Given the description of an element on the screen output the (x, y) to click on. 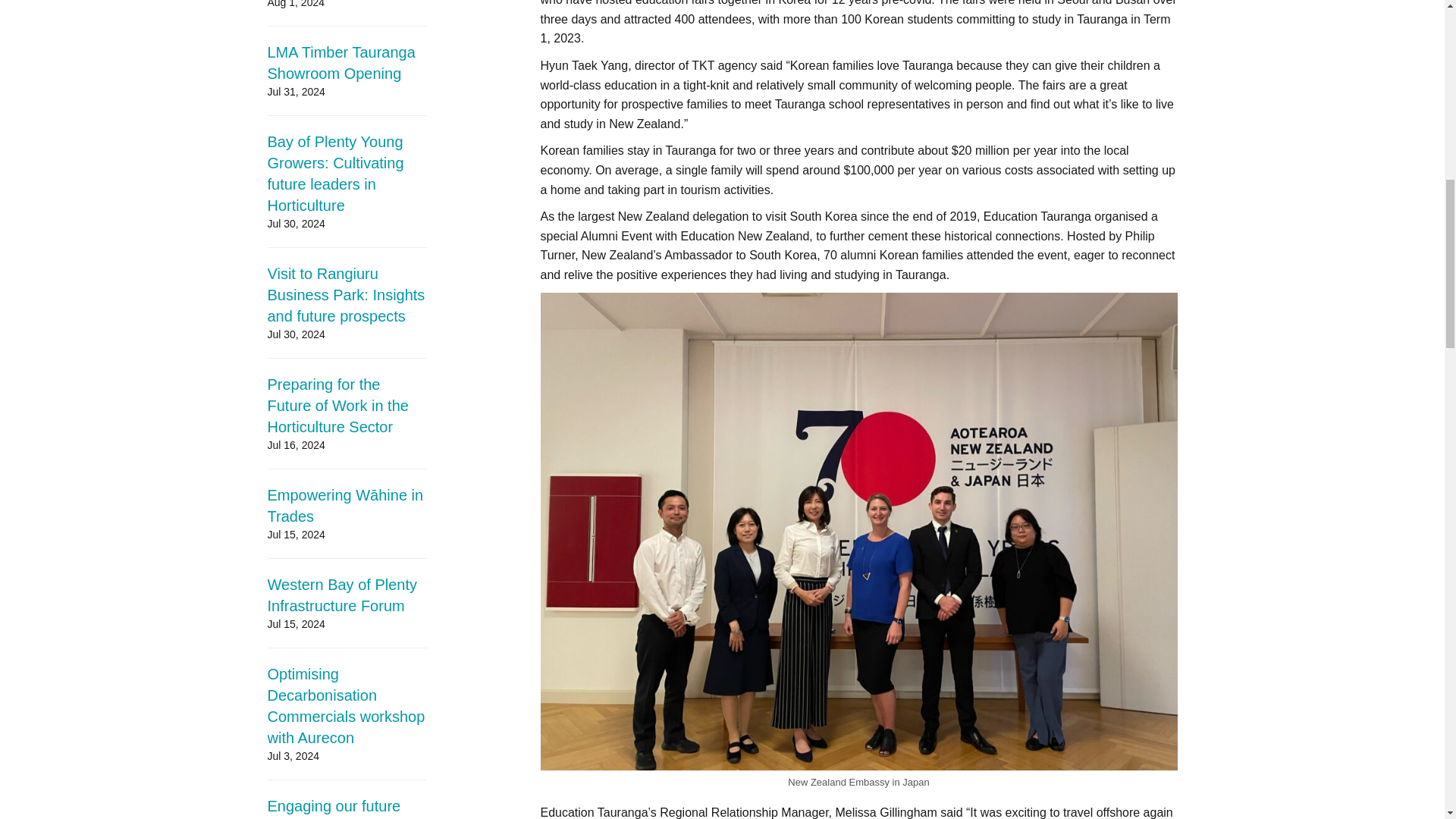
Preparing for the Future of Work in the Horticulture Sector (336, 404)
Engaging our future leaders (333, 808)
Western Bay of Plenty Infrastructure Forum (341, 595)
LMA Timber Tauranga Showroom Opening (340, 62)
Optimising Decarbonisation Commercials workshop with Aurecon (345, 705)
